Given the description of an element on the screen output the (x, y) to click on. 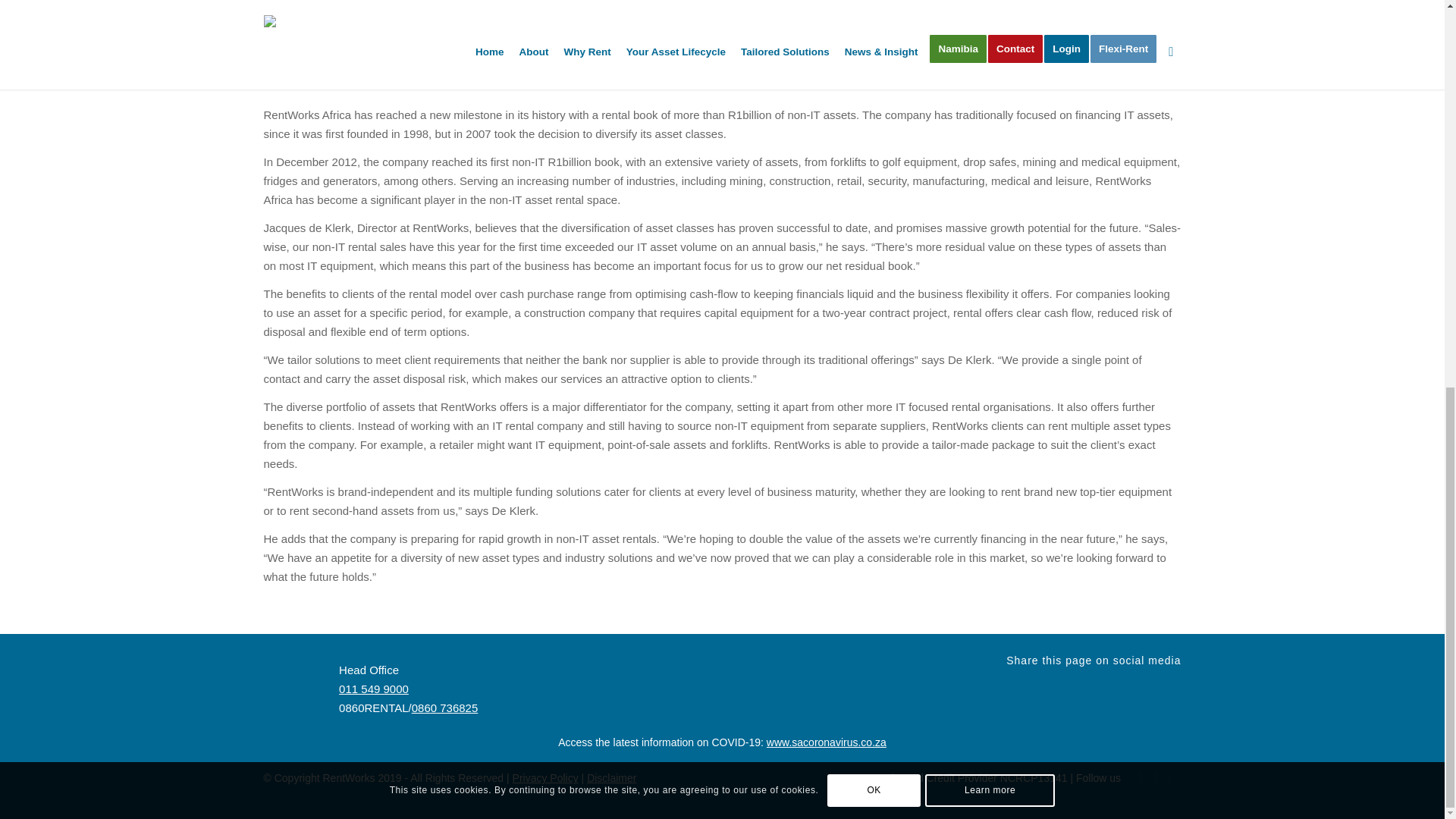
Footer Logo (293, 685)
